Given the description of an element on the screen output the (x, y) to click on. 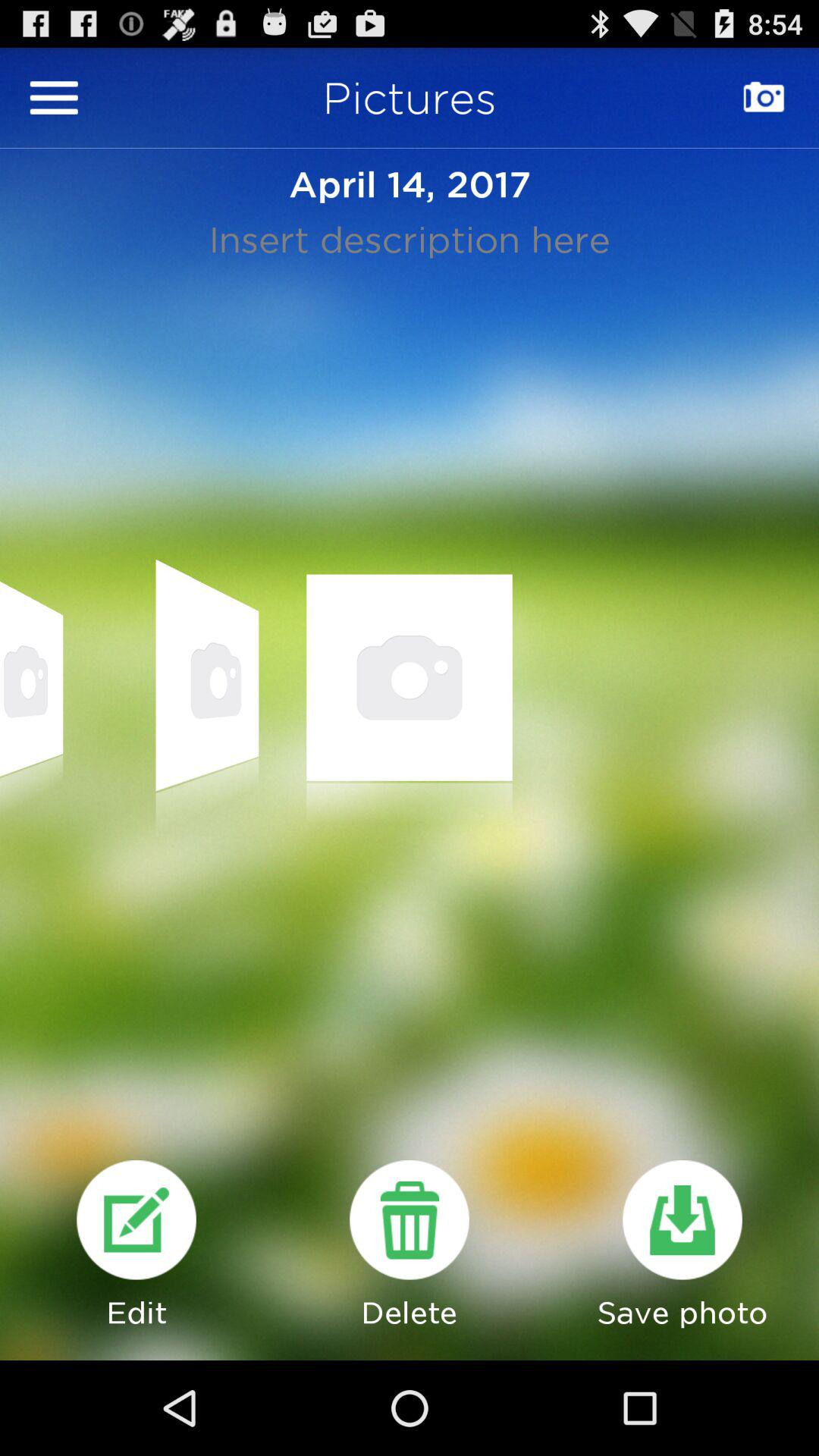
menu options (53, 97)
